Given the description of an element on the screen output the (x, y) to click on. 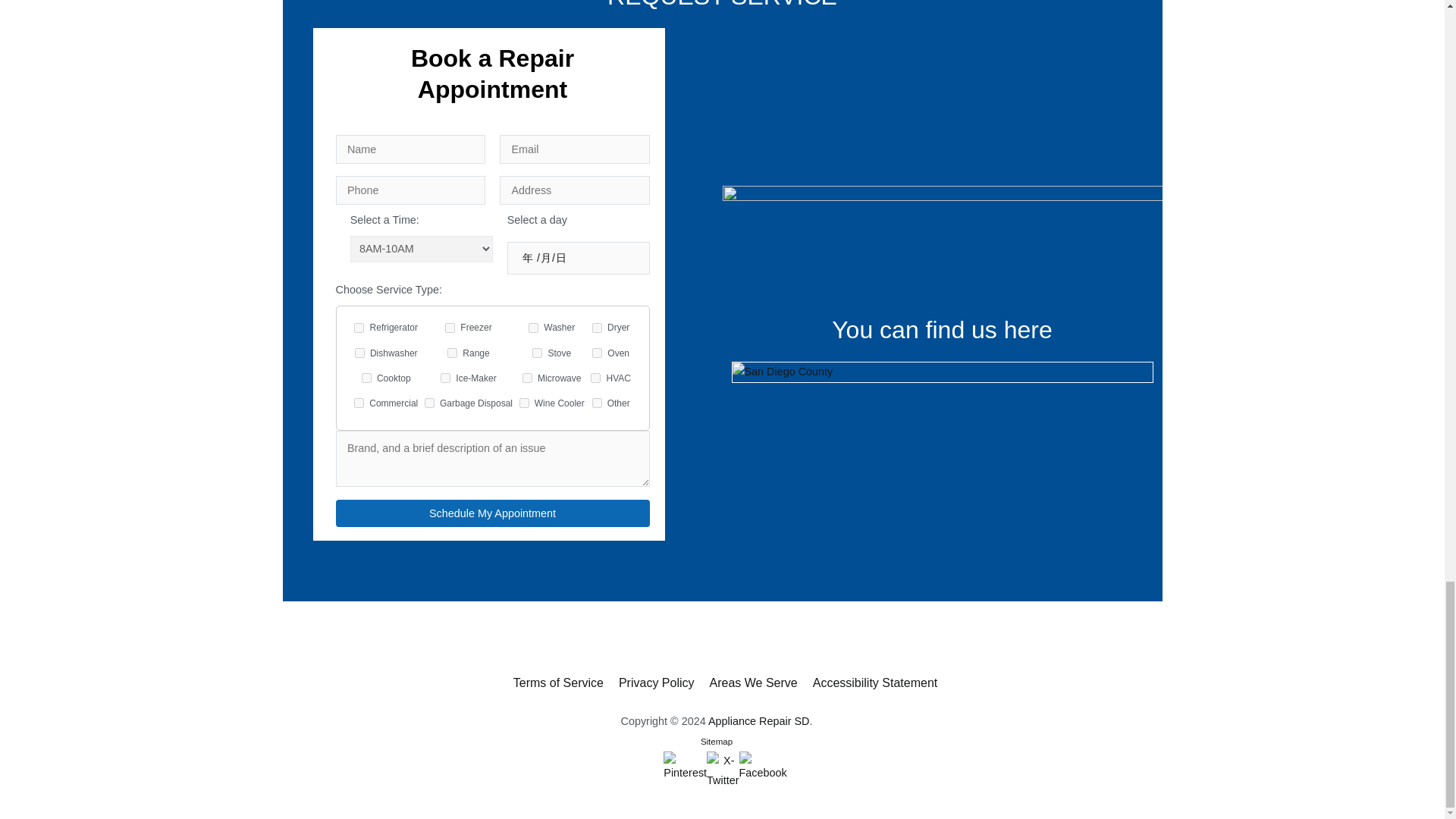
Dishwasher (360, 352)
Cooktop (366, 378)
Garbage Disposal (429, 402)
Refrigerator (358, 327)
Stove (536, 352)
Microwave (527, 378)
Wine Cooler (524, 402)
Commercial (358, 402)
Washer (533, 327)
Appliance Repair SD (758, 720)
